Given the description of an element on the screen output the (x, y) to click on. 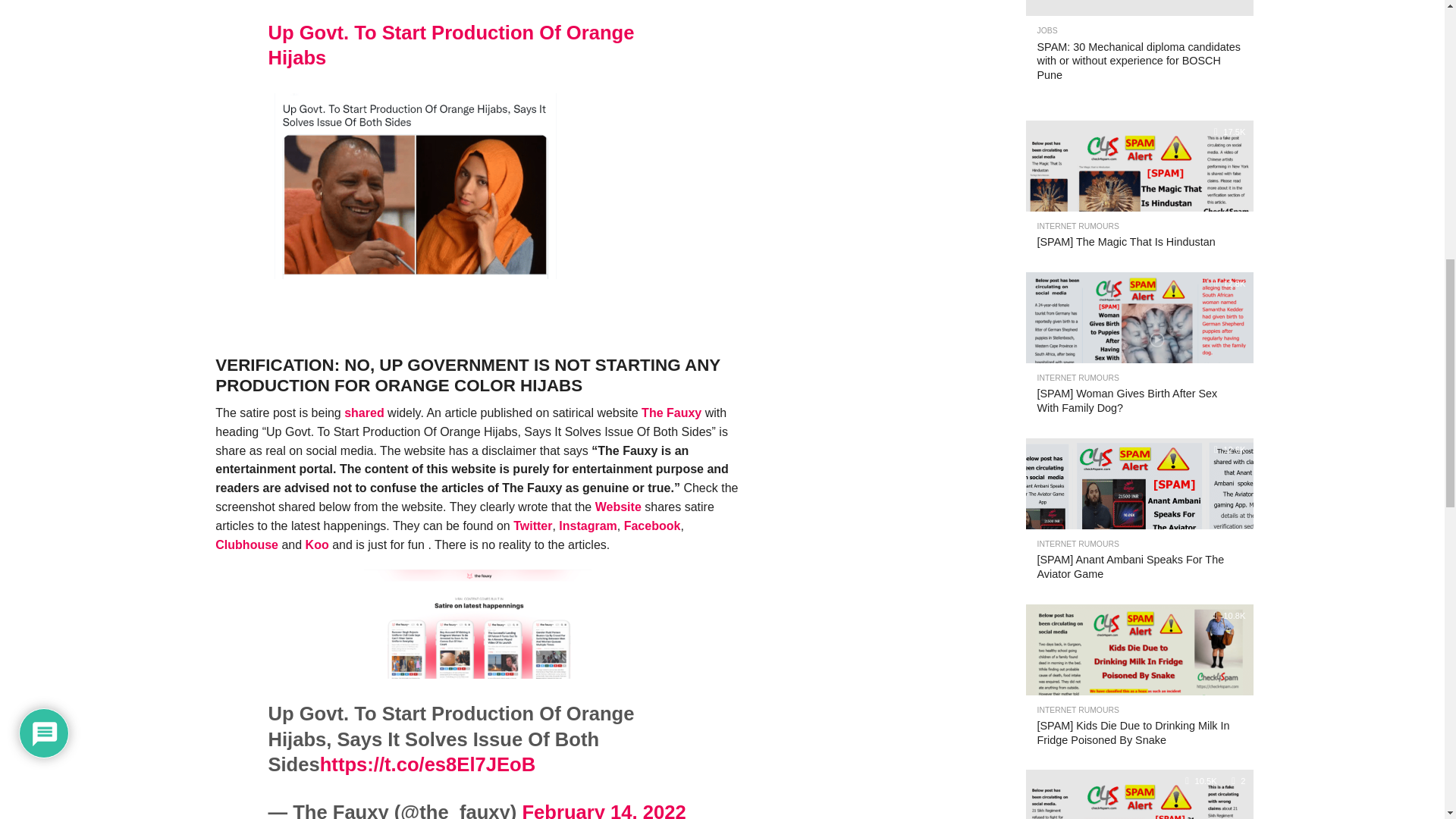
shared (363, 412)
Website (618, 506)
The Fauxy (670, 412)
Up Govt. To Start Production Of Orange Hijabs (450, 44)
